Given the description of an element on the screen output the (x, y) to click on. 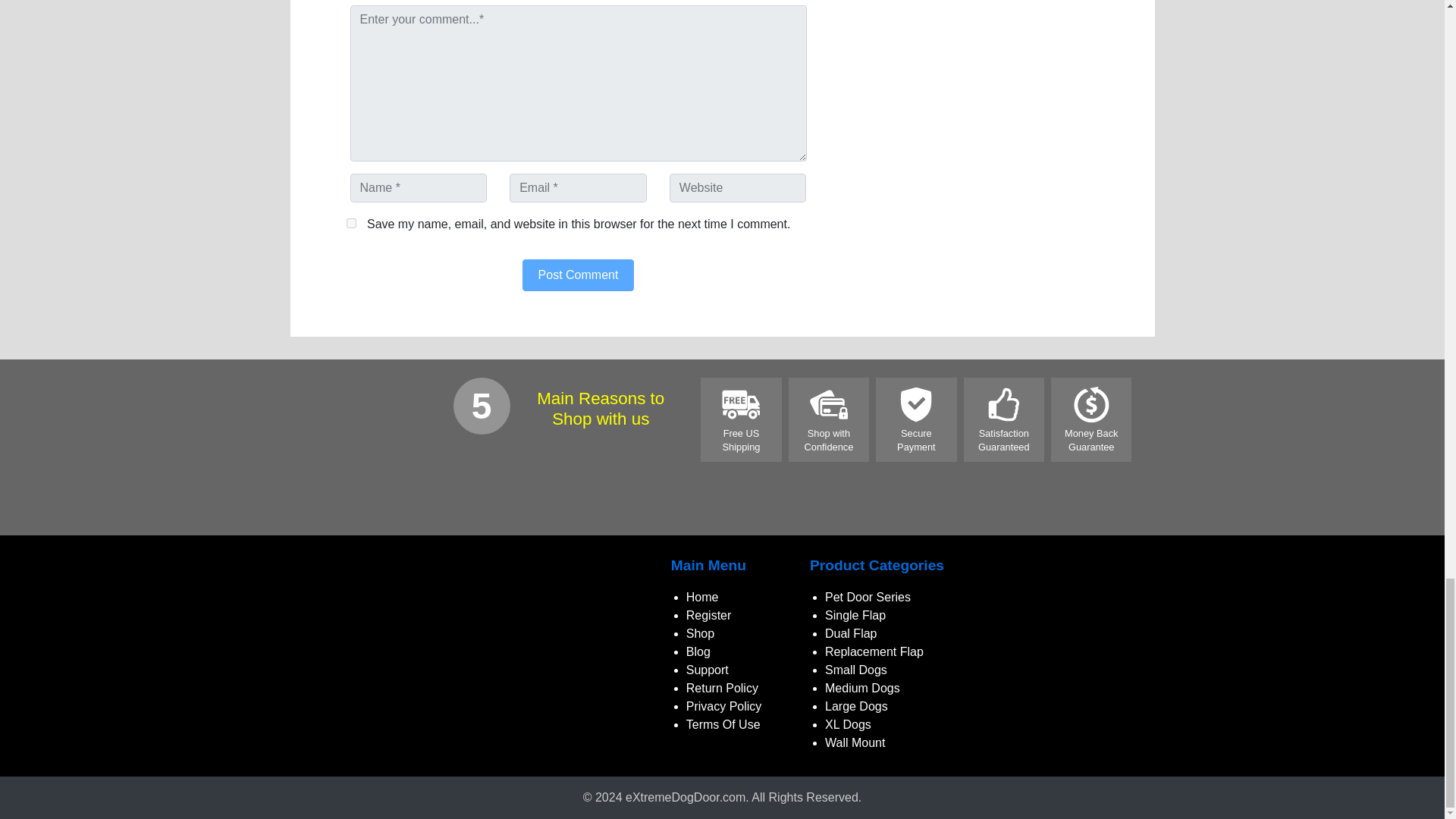
yes (350, 223)
Post Comment (578, 275)
Post Comment (578, 275)
